Given the description of an element on the screen output the (x, y) to click on. 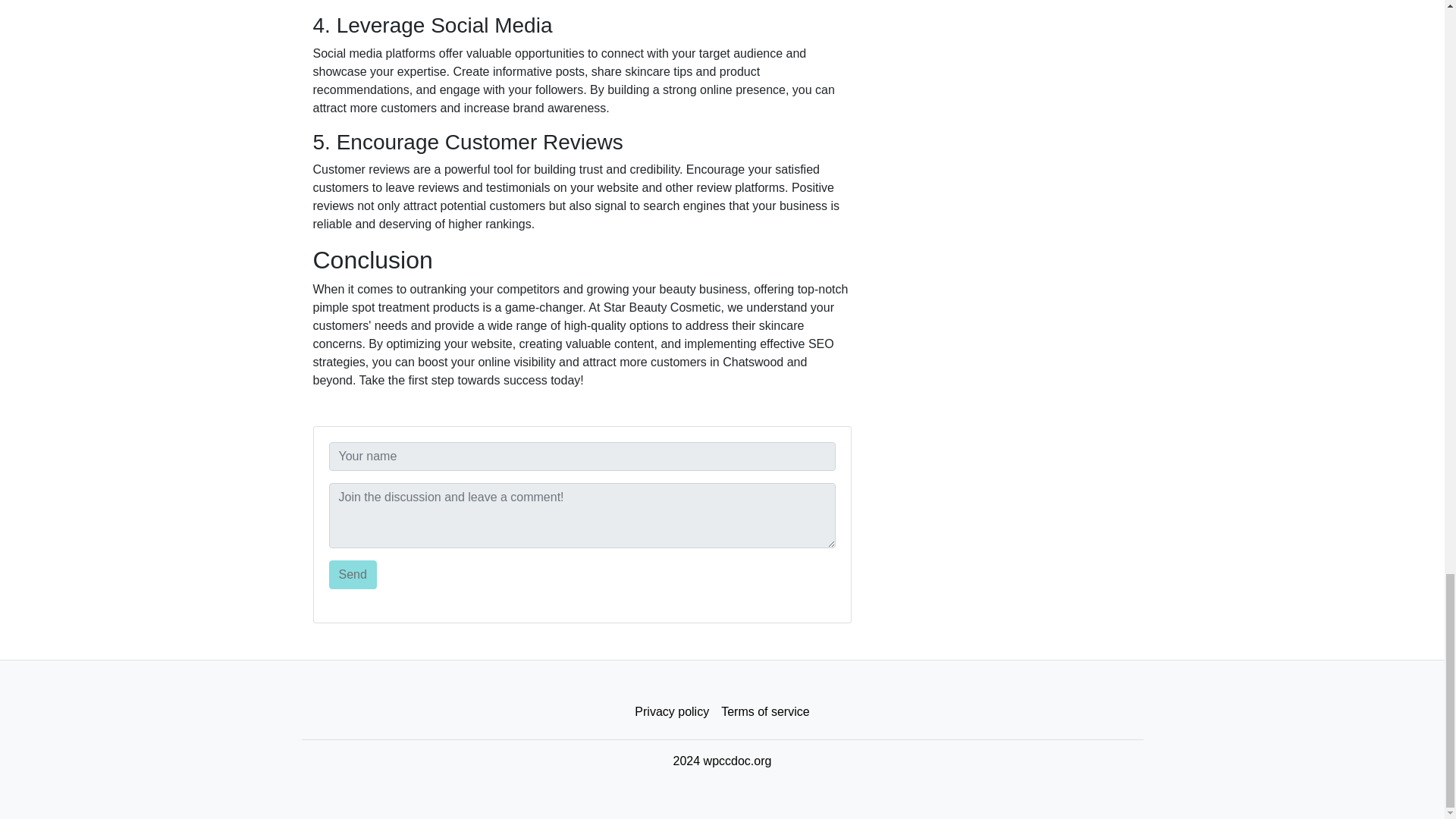
Privacy policy (671, 711)
Terms of service (764, 711)
Send (353, 574)
Send (353, 574)
